Given the description of an element on the screen output the (x, y) to click on. 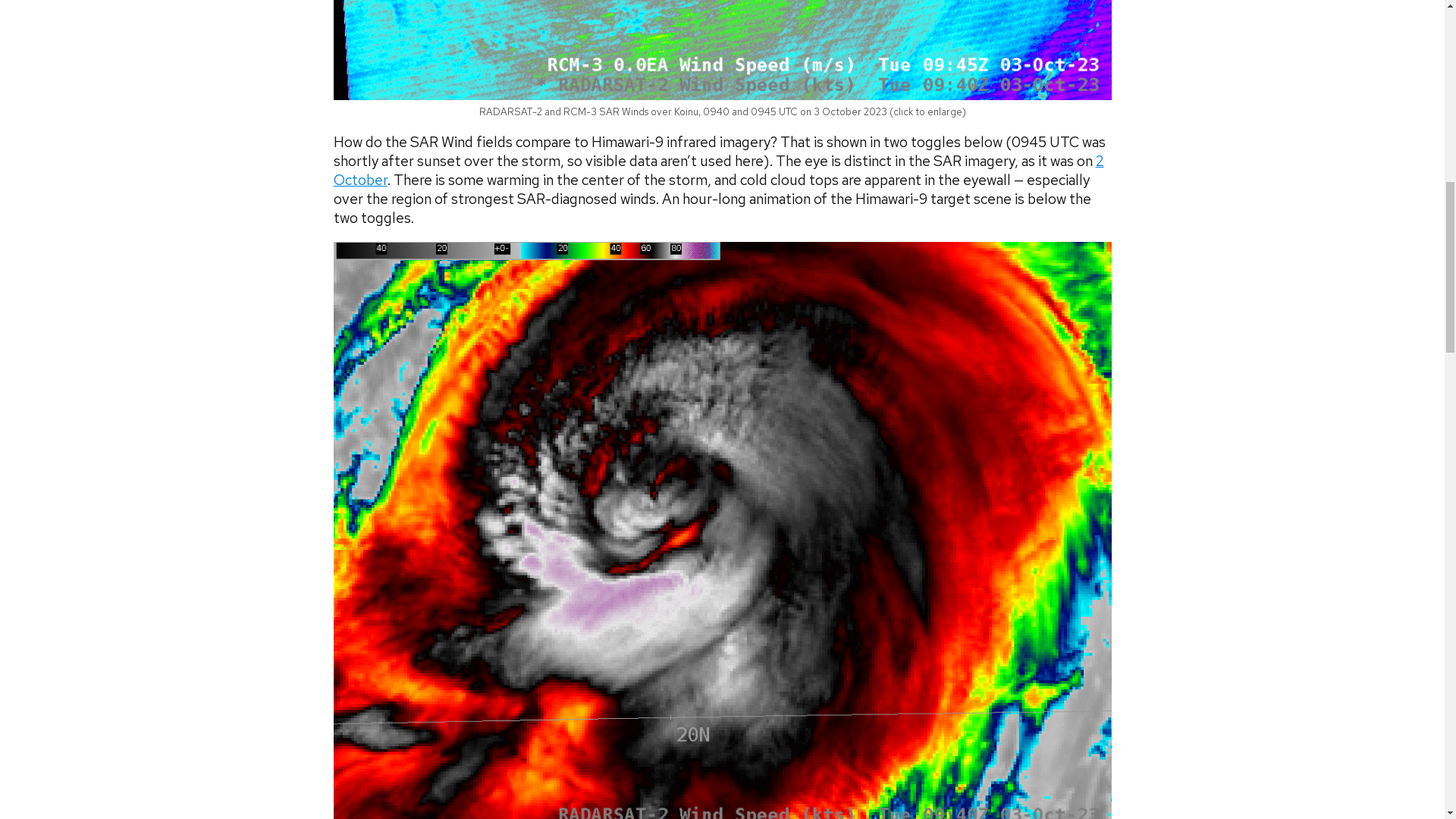
2 October (718, 170)
